Given the description of an element on the screen output the (x, y) to click on. 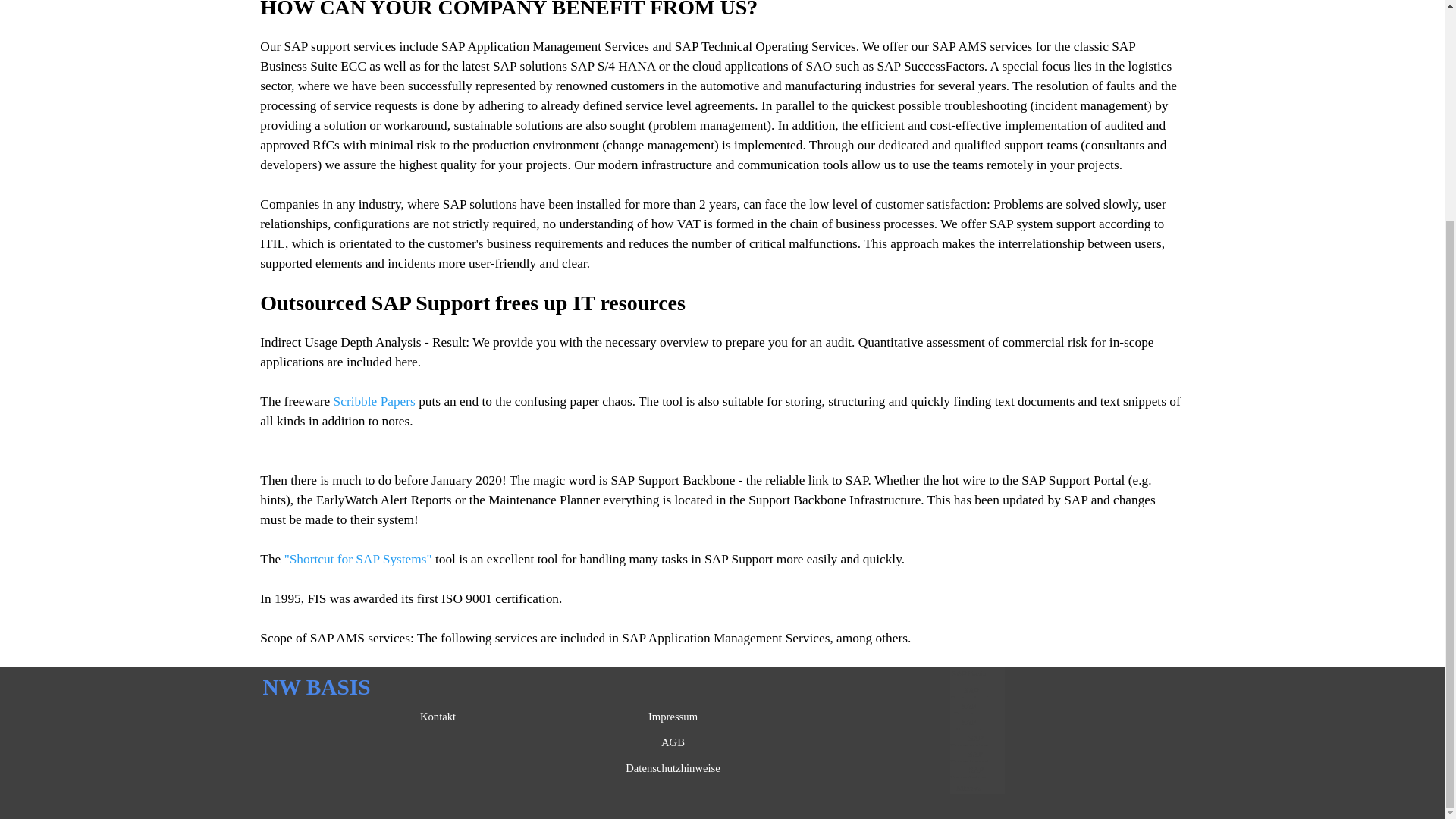
"Shortcut for SAP Systems" (357, 559)
Kontakt (438, 716)
Scribble Papers (373, 400)
Datenschutzhinweise (672, 767)
Mirrors (968, 787)
AGB (672, 742)
Impressum (672, 716)
